Given the description of an element on the screen output the (x, y) to click on. 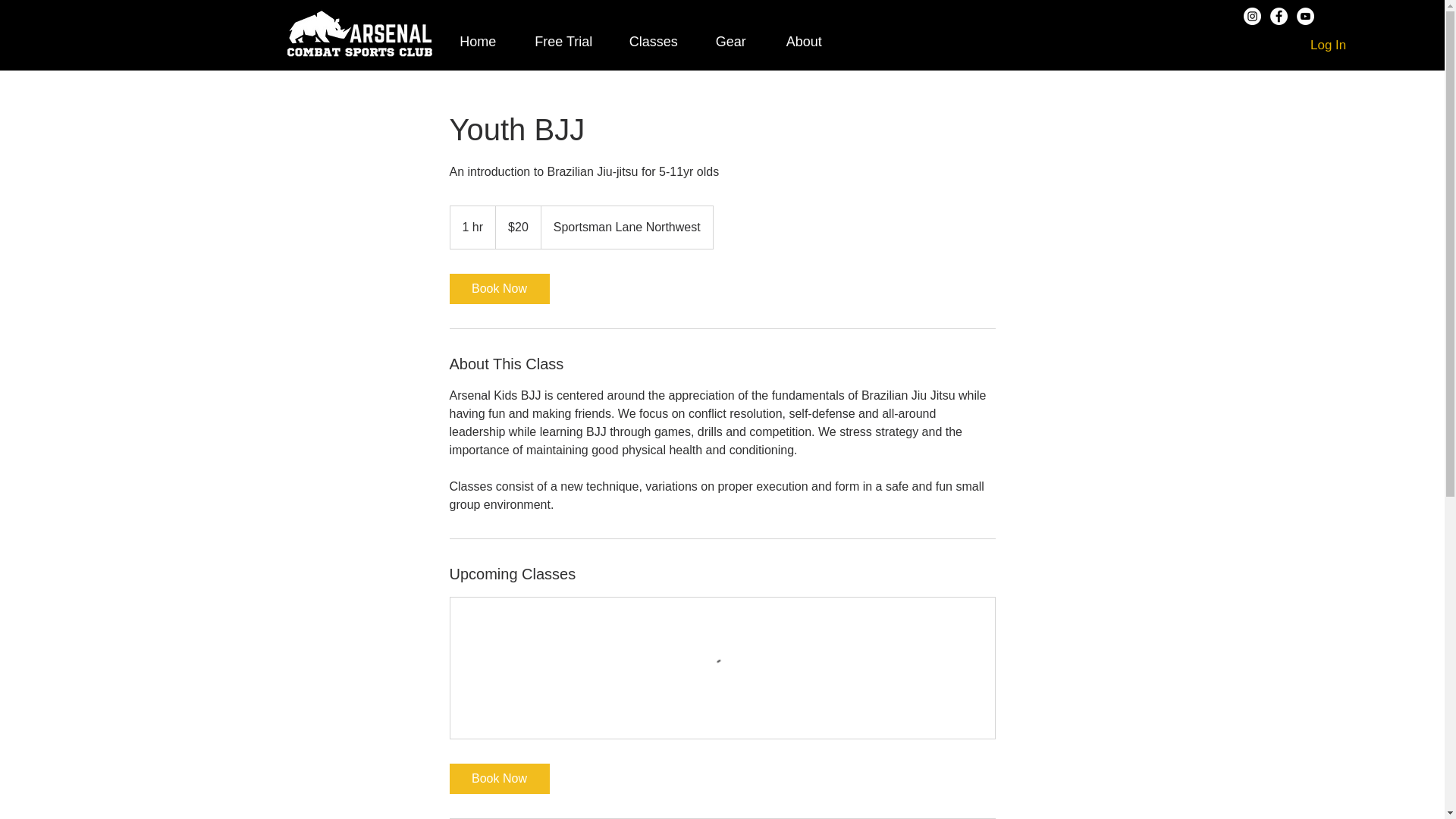
Home (477, 41)
Log In (1328, 44)
Gear (730, 41)
Book Now (498, 288)
Book Now (498, 778)
About (804, 41)
Classes (653, 41)
Free Trial (563, 41)
